Given the description of an element on the screen output the (x, y) to click on. 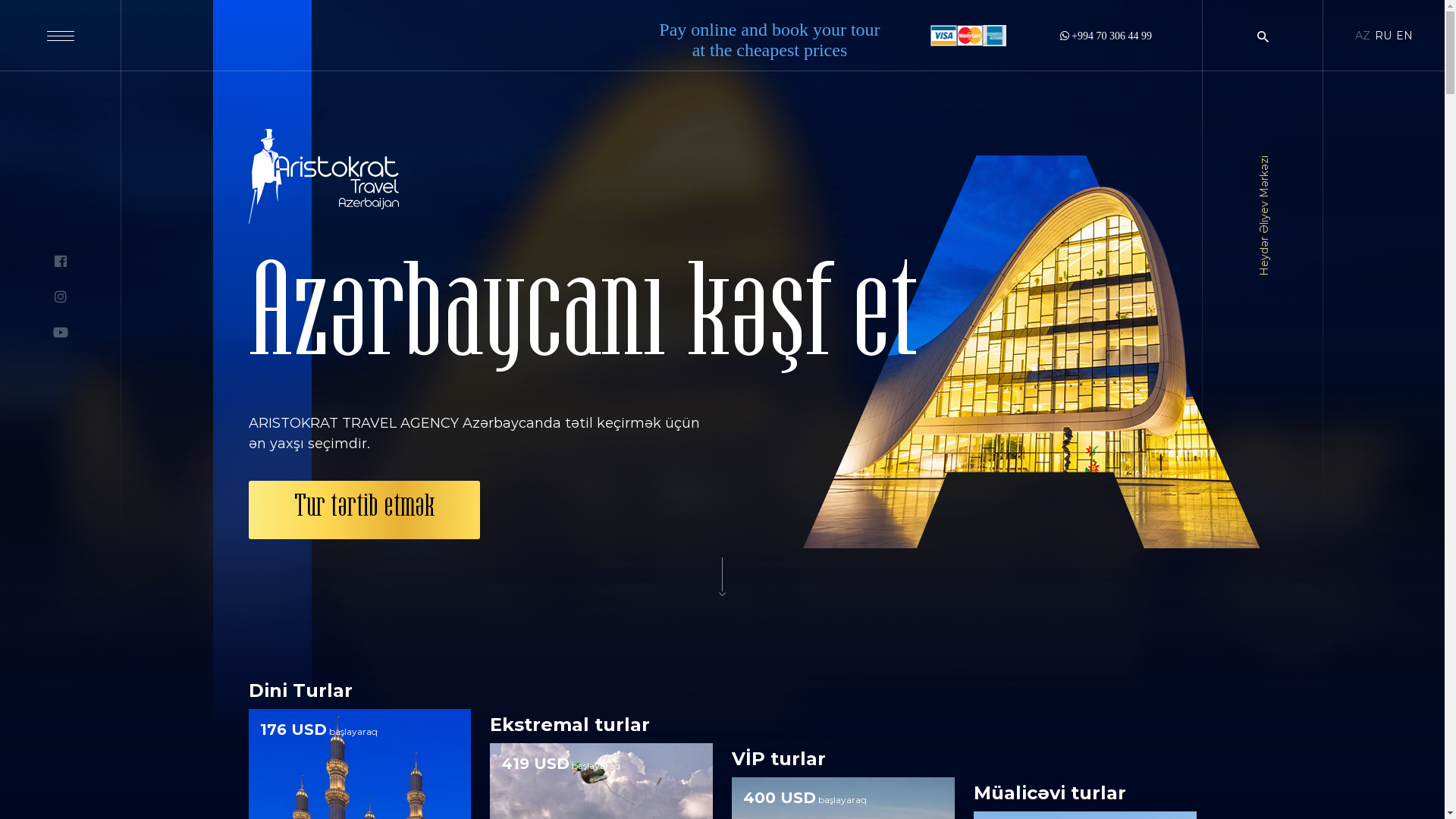
Ekstremal turlar Element type: text (569, 724)
Dini Turlar Element type: text (300, 690)
EN Element type: text (1404, 35)
+994 70 306 44 99 Element type: text (1105, 35)
RU Element type: text (1382, 35)
